Given the description of an element on the screen output the (x, y) to click on. 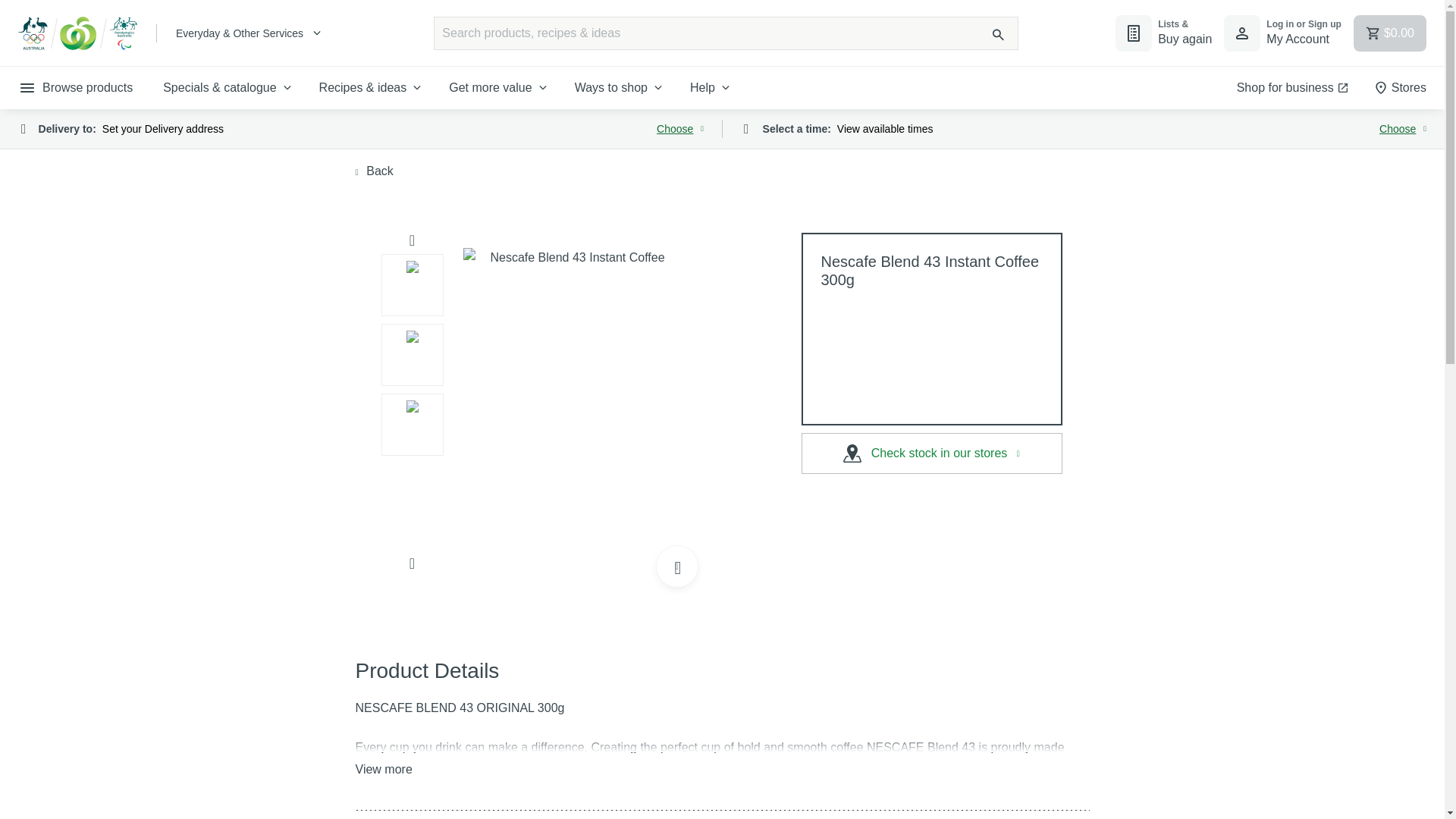
Ways to shop (620, 87)
Shop for business (1292, 87)
Get more value (1282, 33)
Stores (361, 128)
Search (499, 87)
Back (1399, 87)
Help (997, 34)
Browse products (374, 171)
